Given the description of an element on the screen output the (x, y) to click on. 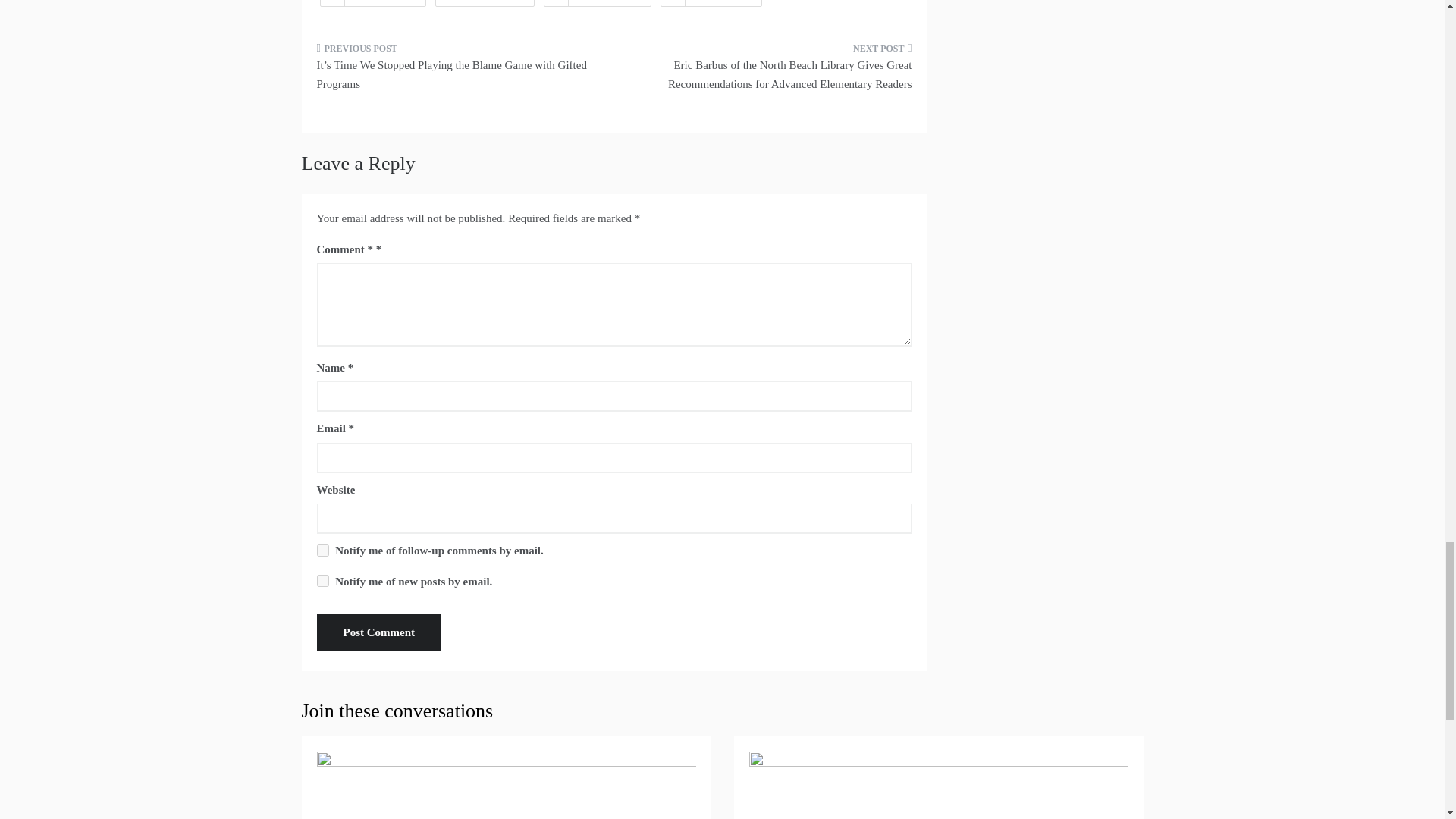
subscribe (323, 550)
Post Comment (379, 632)
subscribe (323, 580)
